Given the description of an element on the screen output the (x, y) to click on. 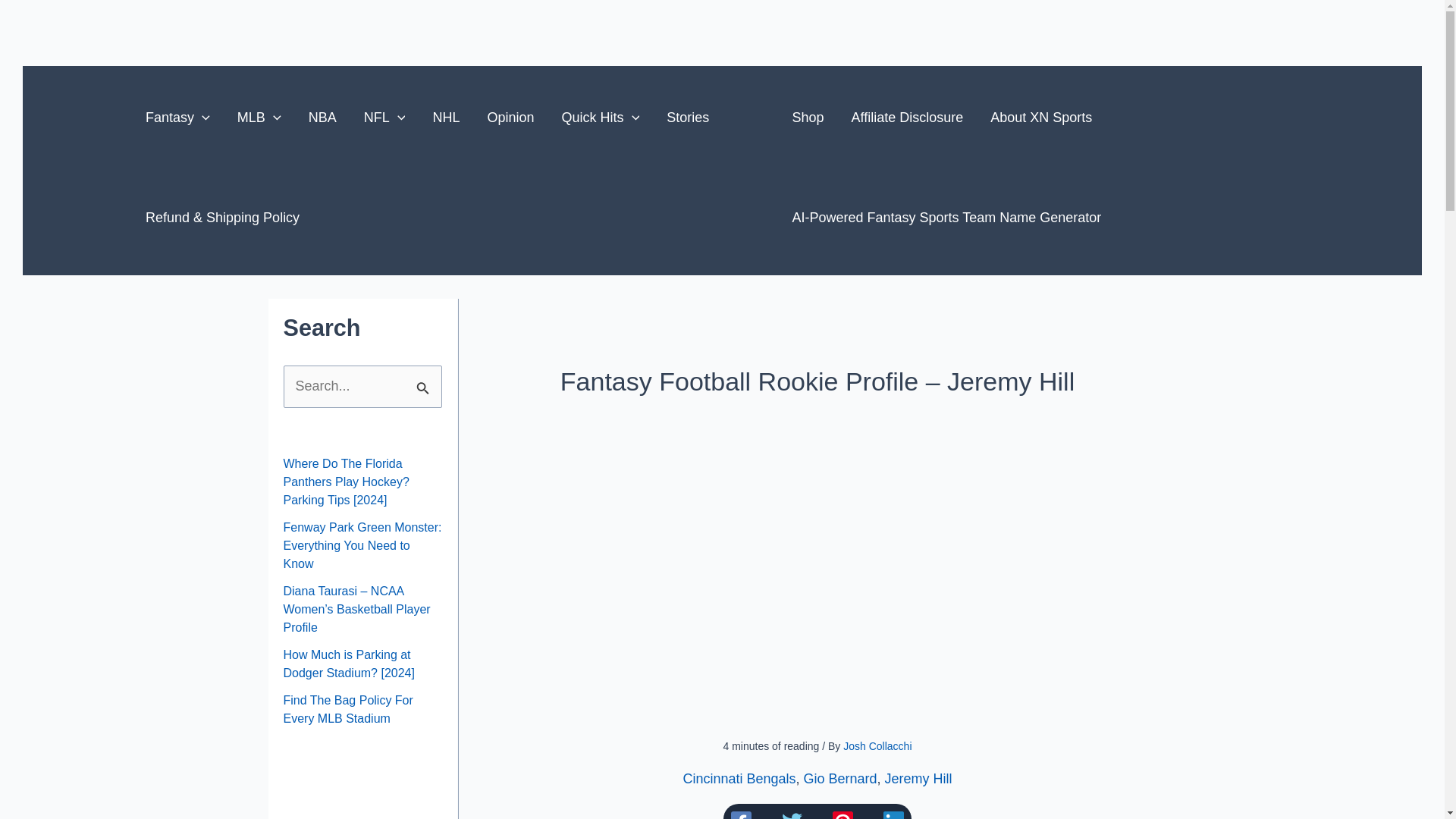
NBA (322, 117)
Stories (687, 117)
MLB (259, 117)
NFL (384, 117)
Quick Hits (600, 117)
Fantasy (178, 117)
AI-Powered Fantasy Sports Team Name Generator (946, 217)
Search (424, 381)
View all posts by Josh Collacchi (877, 746)
Opinion (510, 117)
About XN Sports (1040, 117)
NHL (446, 117)
Affiliate Disclosure (906, 117)
Search (424, 381)
